Given the description of an element on the screen output the (x, y) to click on. 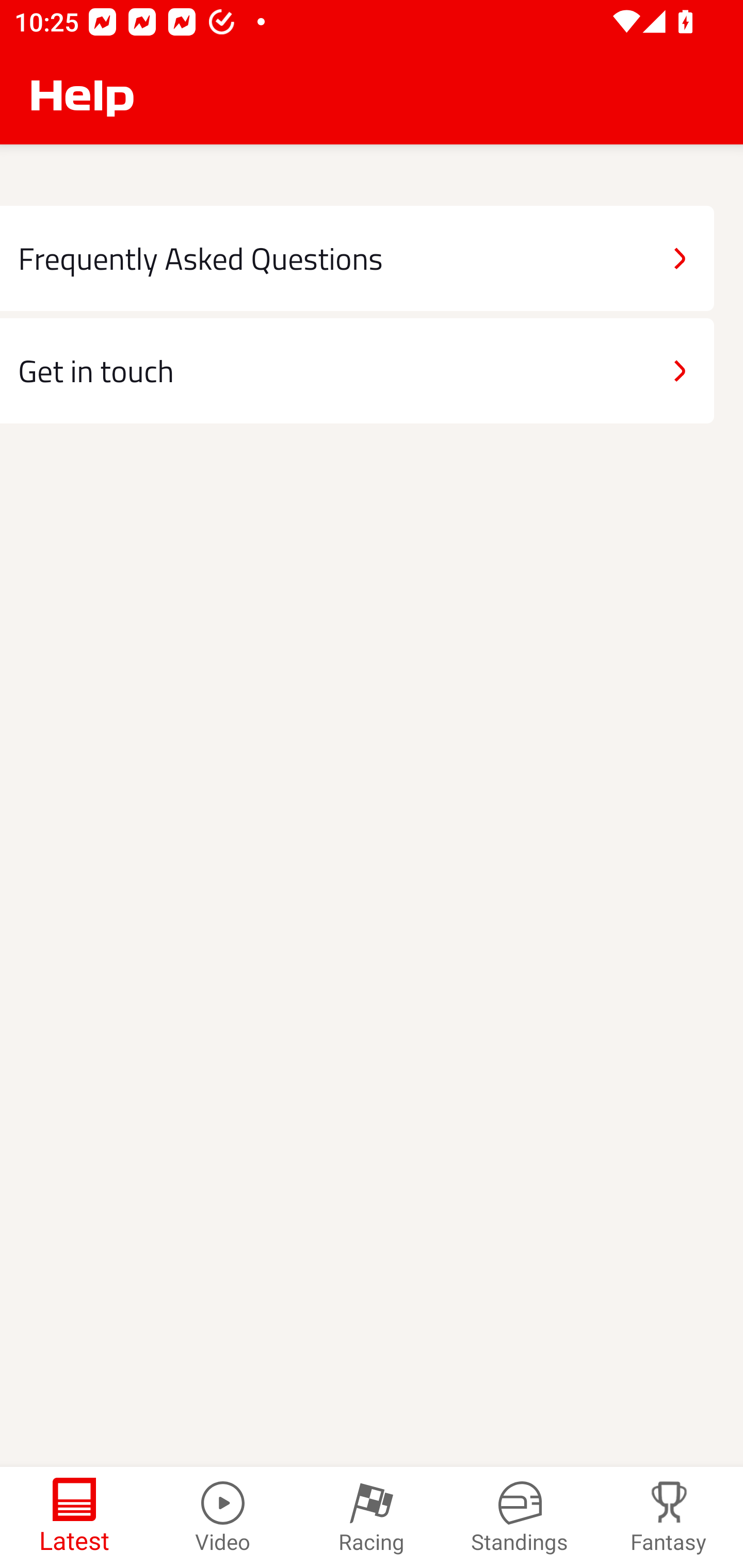
Frequently Asked Questions (357, 257)
Get in touch (357, 370)
Video (222, 1517)
Racing (371, 1517)
Standings (519, 1517)
Fantasy (668, 1517)
